Given the description of an element on the screen output the (x, y) to click on. 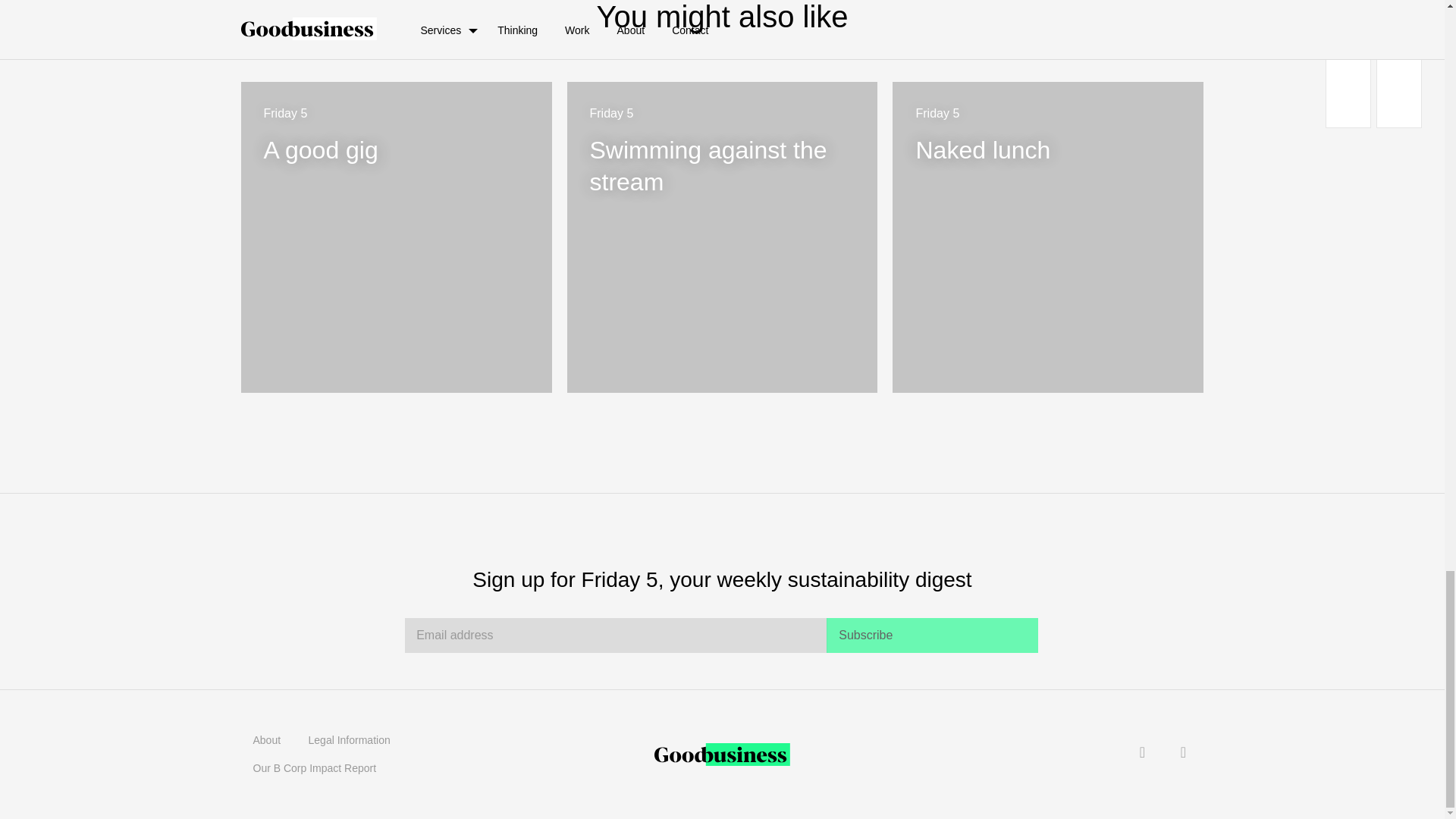
Subscribe (722, 237)
About (932, 635)
Our B Corp Impact Report (1048, 237)
Legal Information (267, 740)
